Given the description of an element on the screen output the (x, y) to click on. 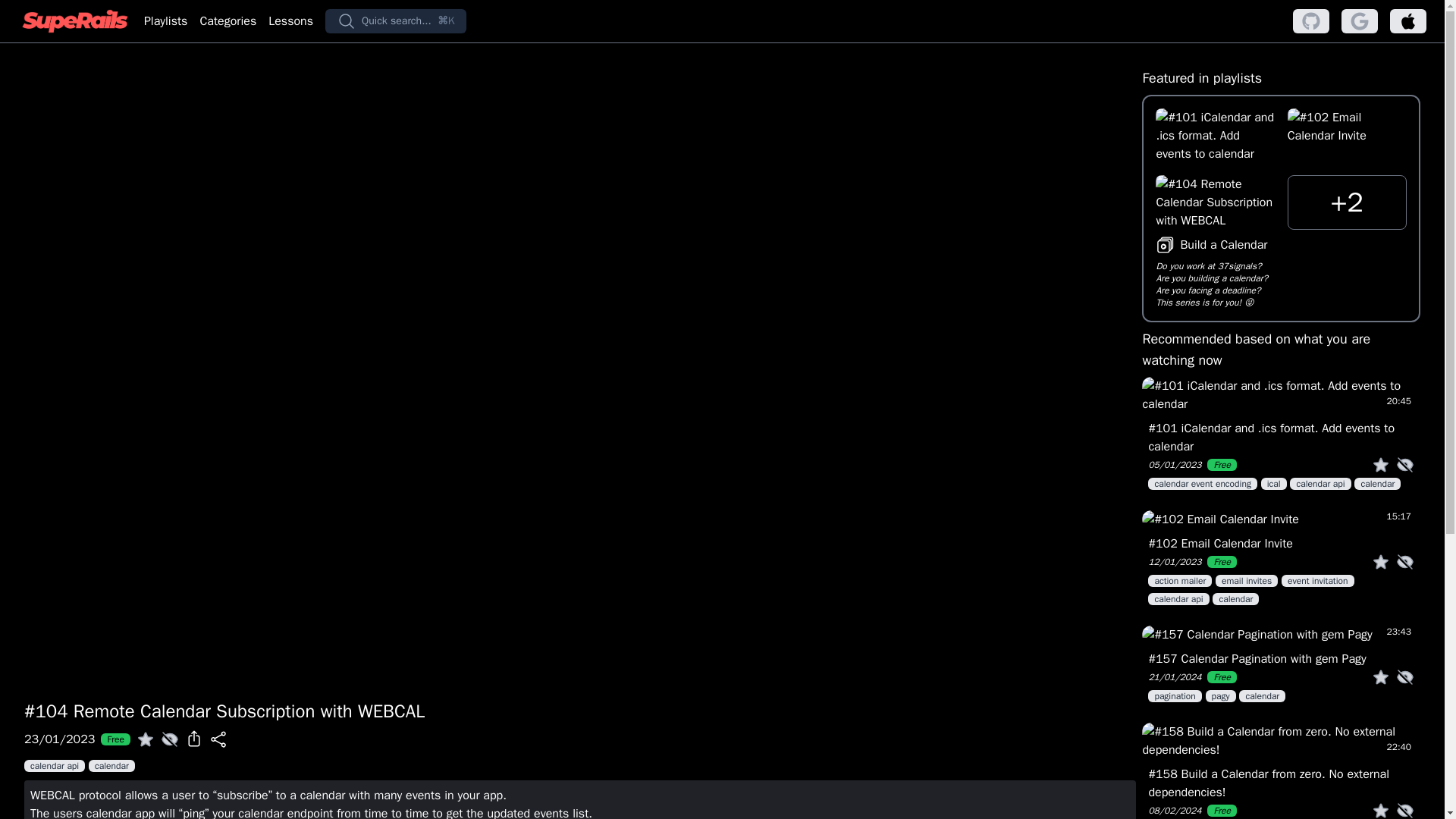
calendar (1377, 482)
calendar event encoding (1204, 482)
pagy (1222, 694)
calendar api (1180, 598)
pagination (1176, 694)
Copy link to this post (218, 739)
20:45 (1281, 394)
Lessons (290, 21)
calendar api (56, 765)
23:43 (1281, 634)
